Given the description of an element on the screen output the (x, y) to click on. 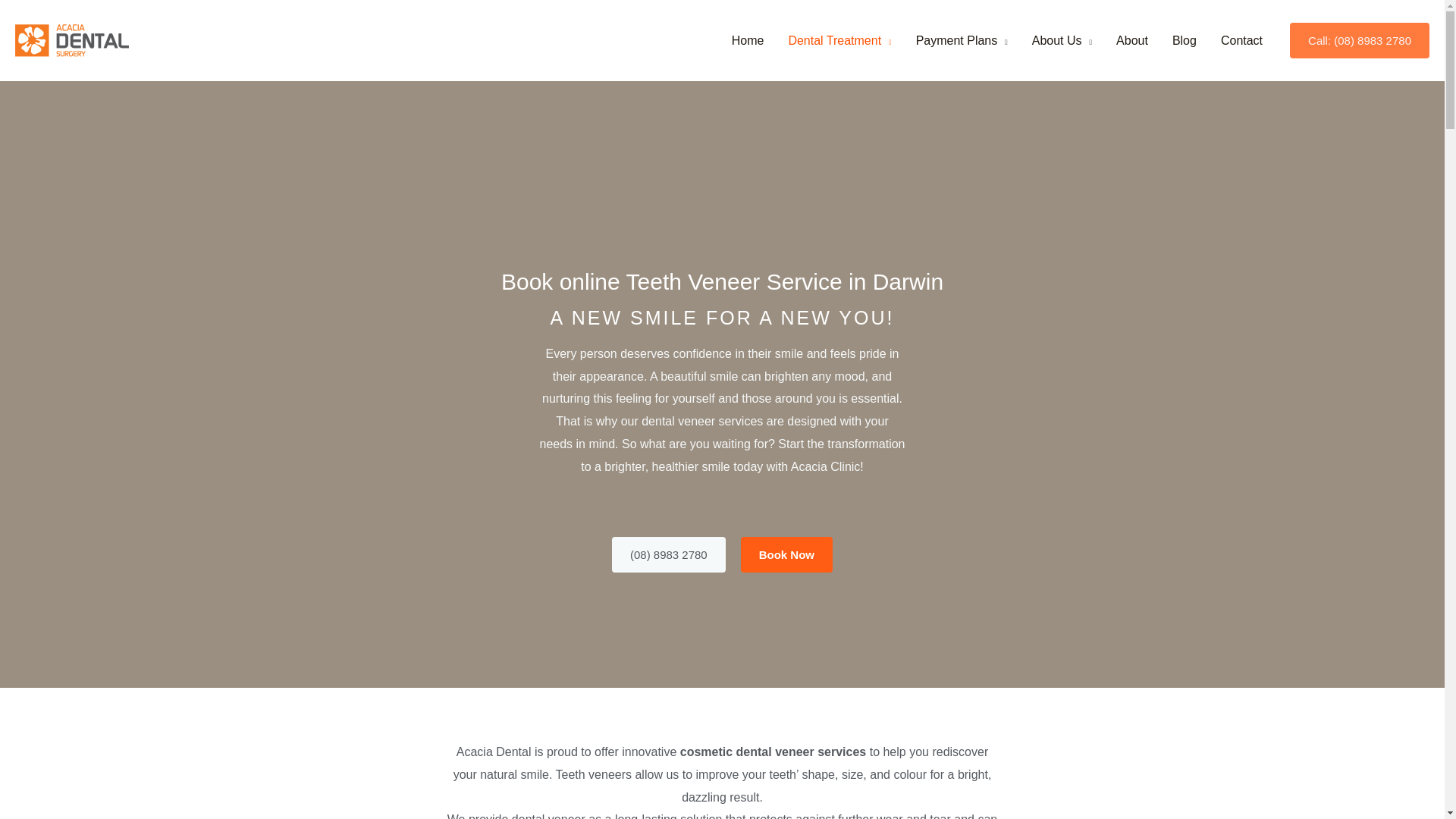
Home (747, 39)
Payment Plans (962, 39)
About (1131, 39)
Blog (1184, 39)
Dental Treatment (839, 39)
About Us (1061, 39)
Contact (1241, 39)
